Given the description of an element on the screen output the (x, y) to click on. 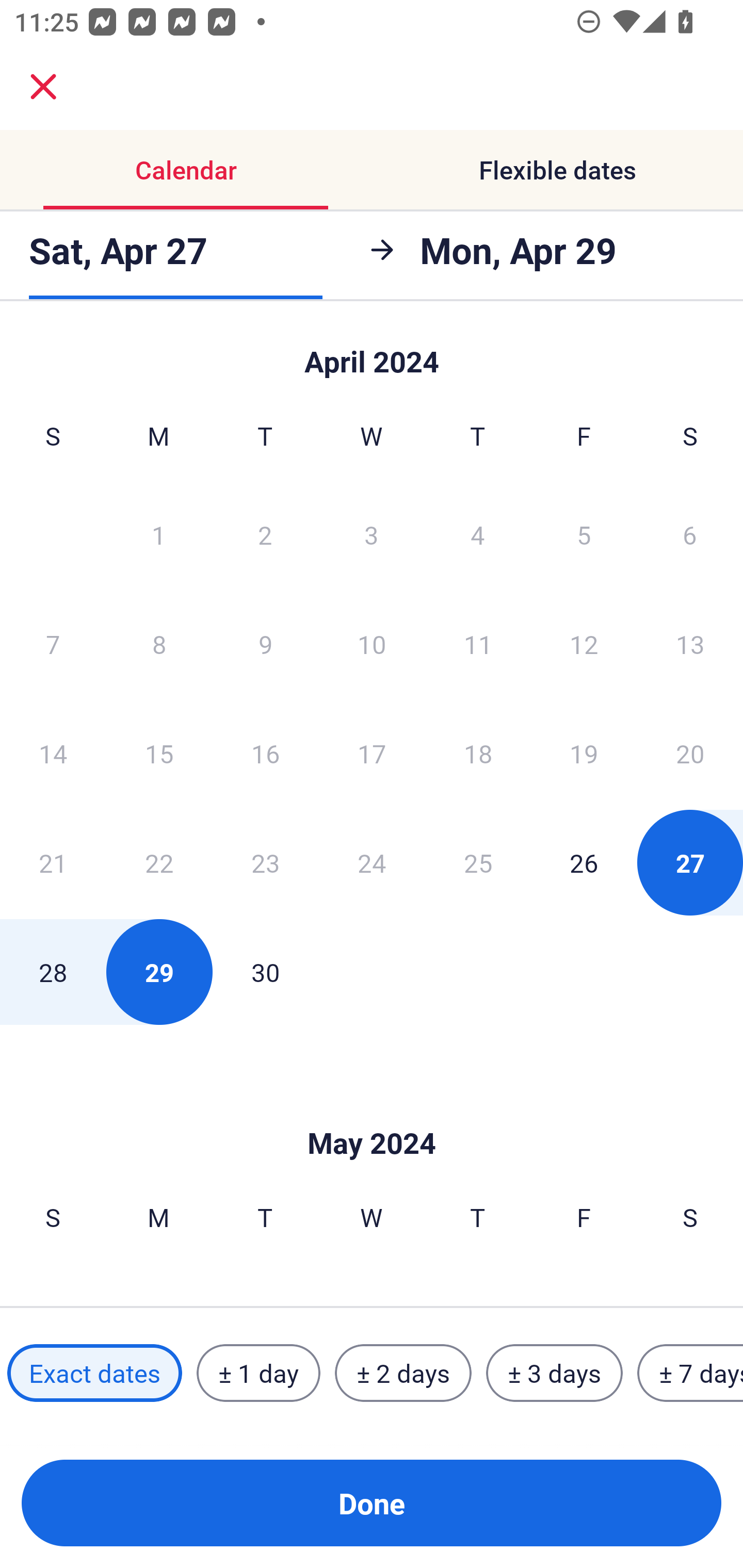
close. (43, 86)
Flexible dates (557, 170)
Skip to Done (371, 352)
1 Monday, April 1, 2024 (158, 534)
2 Tuesday, April 2, 2024 (264, 534)
3 Wednesday, April 3, 2024 (371, 534)
4 Thursday, April 4, 2024 (477, 534)
5 Friday, April 5, 2024 (583, 534)
6 Saturday, April 6, 2024 (689, 534)
7 Sunday, April 7, 2024 (53, 643)
8 Monday, April 8, 2024 (159, 643)
9 Tuesday, April 9, 2024 (265, 643)
10 Wednesday, April 10, 2024 (371, 643)
11 Thursday, April 11, 2024 (477, 643)
12 Friday, April 12, 2024 (584, 643)
13 Saturday, April 13, 2024 (690, 643)
14 Sunday, April 14, 2024 (53, 752)
15 Monday, April 15, 2024 (159, 752)
16 Tuesday, April 16, 2024 (265, 752)
17 Wednesday, April 17, 2024 (371, 752)
